Given the description of an element on the screen output the (x, y) to click on. 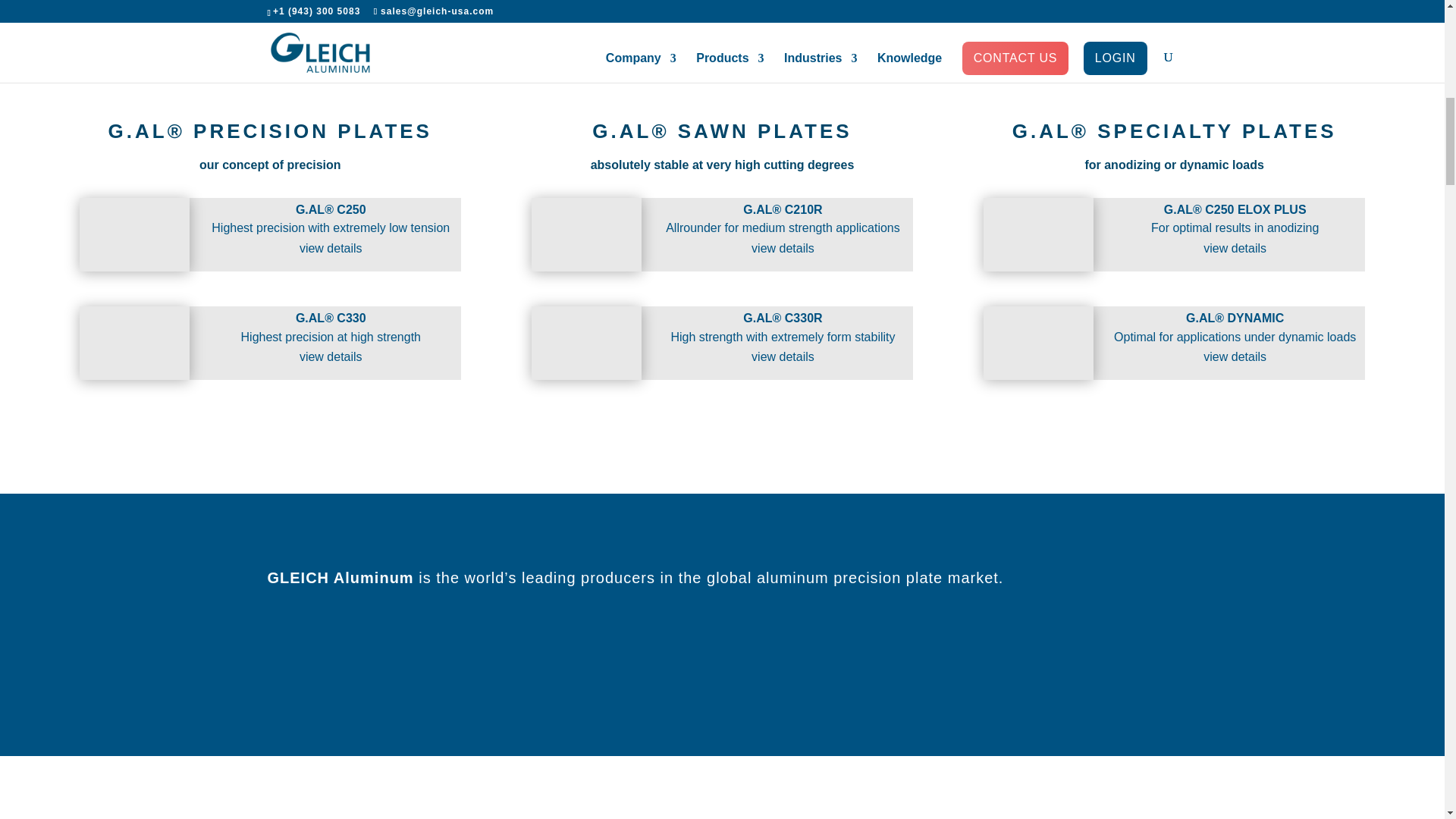
view details (330, 356)
view details (330, 247)
view details (782, 247)
